Given the description of an element on the screen output the (x, y) to click on. 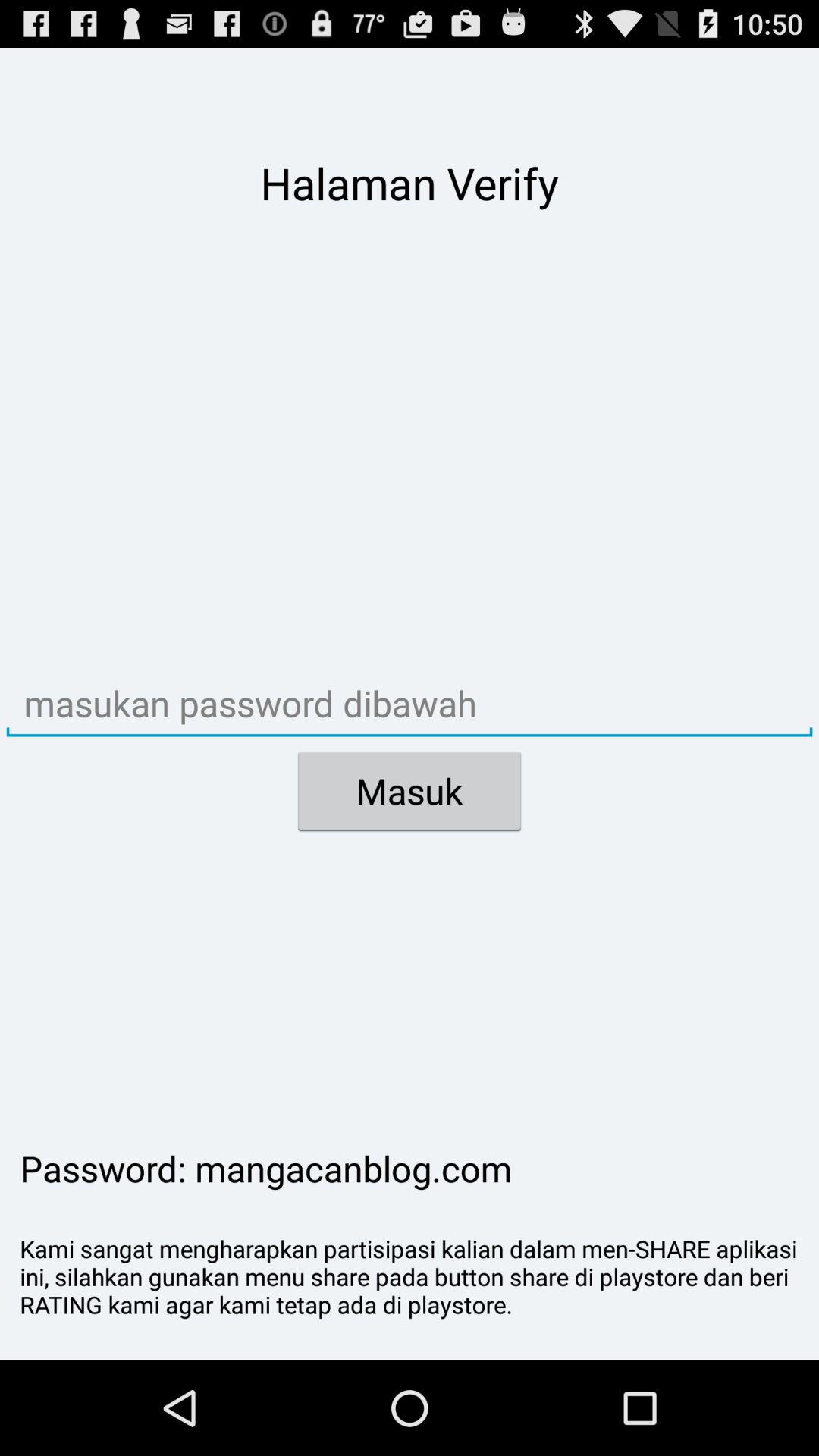
choose icon above password: mangacanblog.com icon (409, 790)
